Given the description of an element on the screen output the (x, y) to click on. 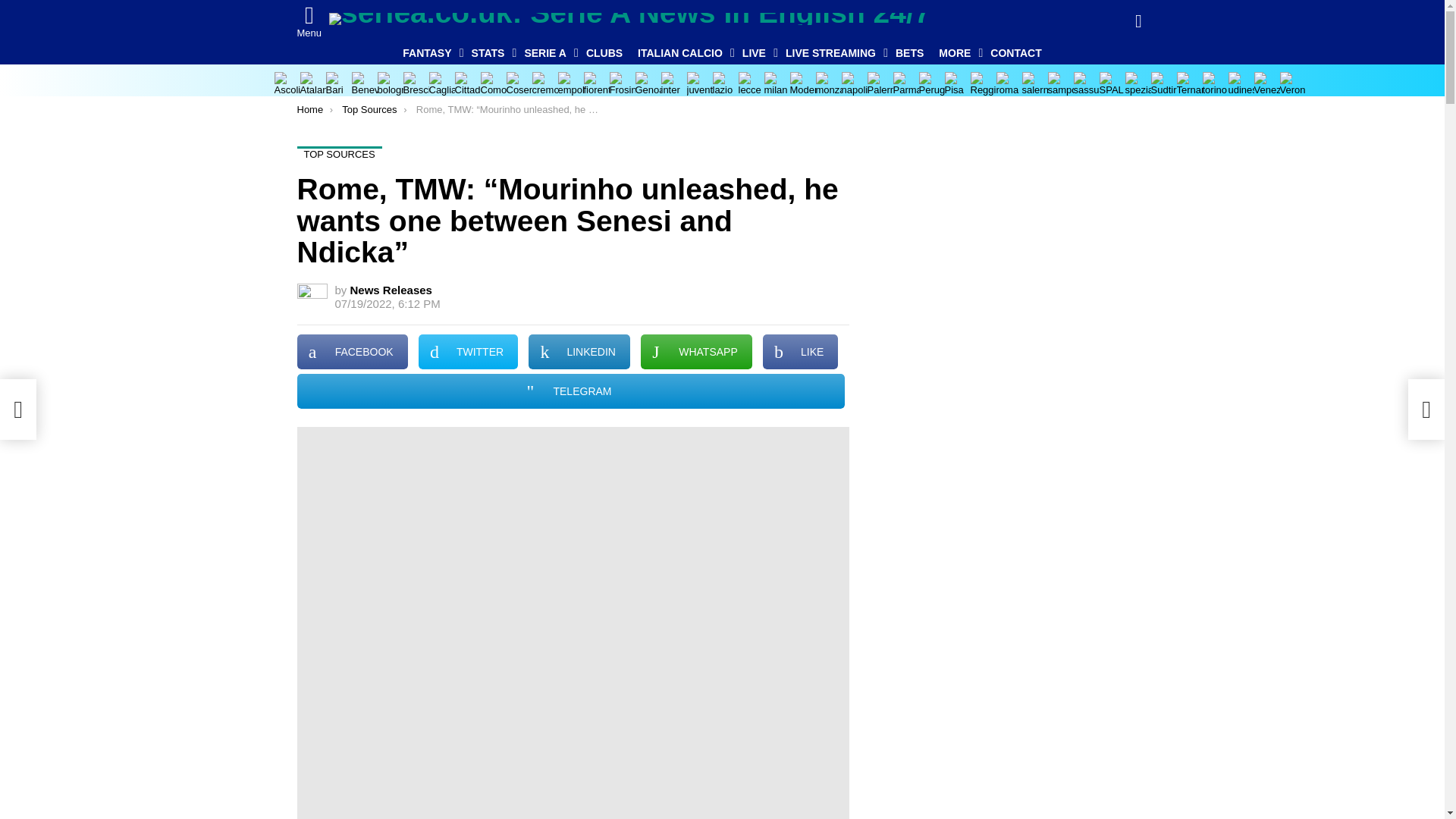
Share on Facebook (352, 351)
Share on Telegram (570, 390)
Share on LinkedIn (579, 351)
STATS (490, 52)
Share on Like (800, 351)
Share on WhatsApp (696, 351)
Posts by News Releases (391, 289)
FANTASY (428, 52)
Share on Twitter (468, 351)
SERIE A (547, 52)
